Given the description of an element on the screen output the (x, y) to click on. 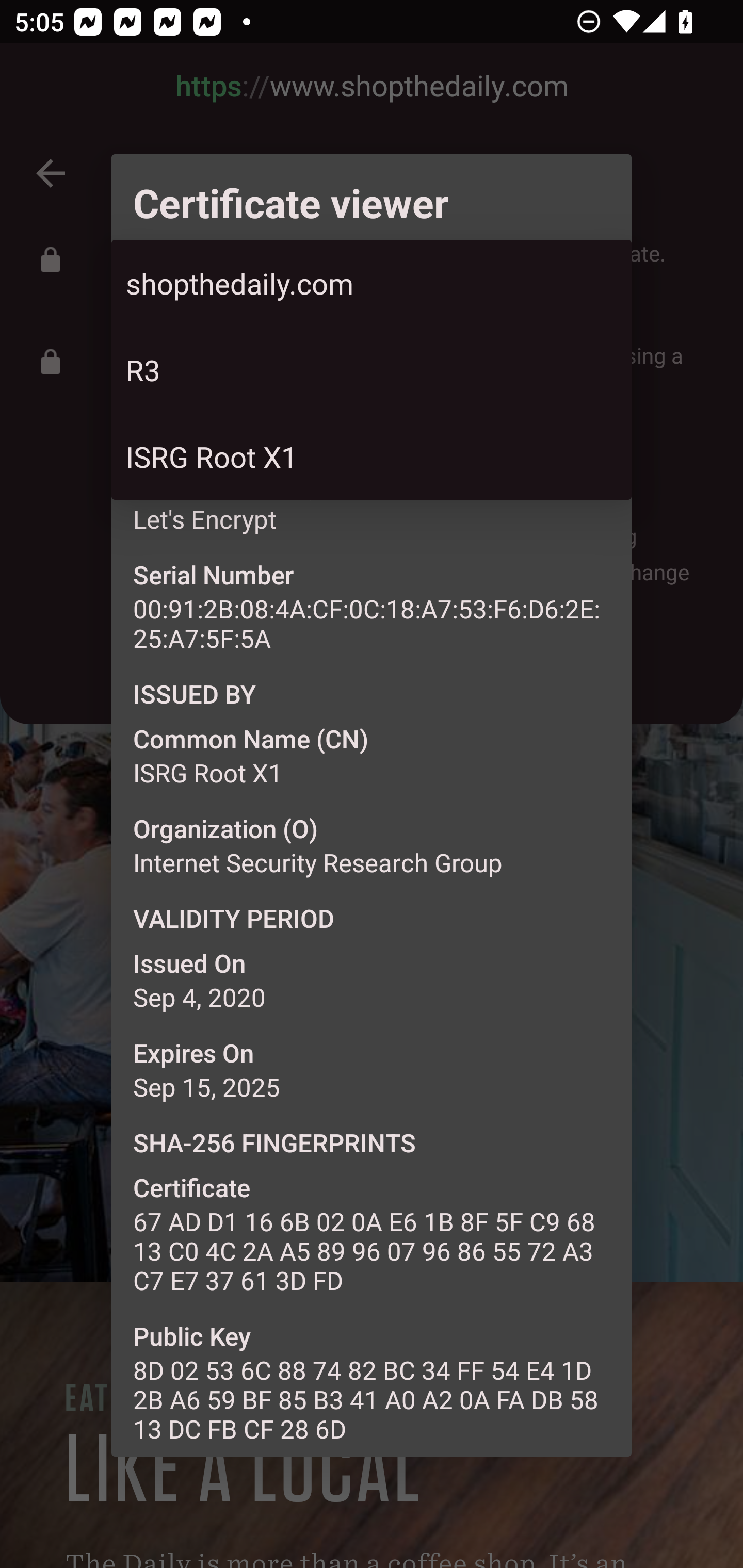
shopthedaily.com (371, 282)
R3 (371, 369)
ISRG Root X1 (371, 456)
